Given the description of an element on the screen output the (x, y) to click on. 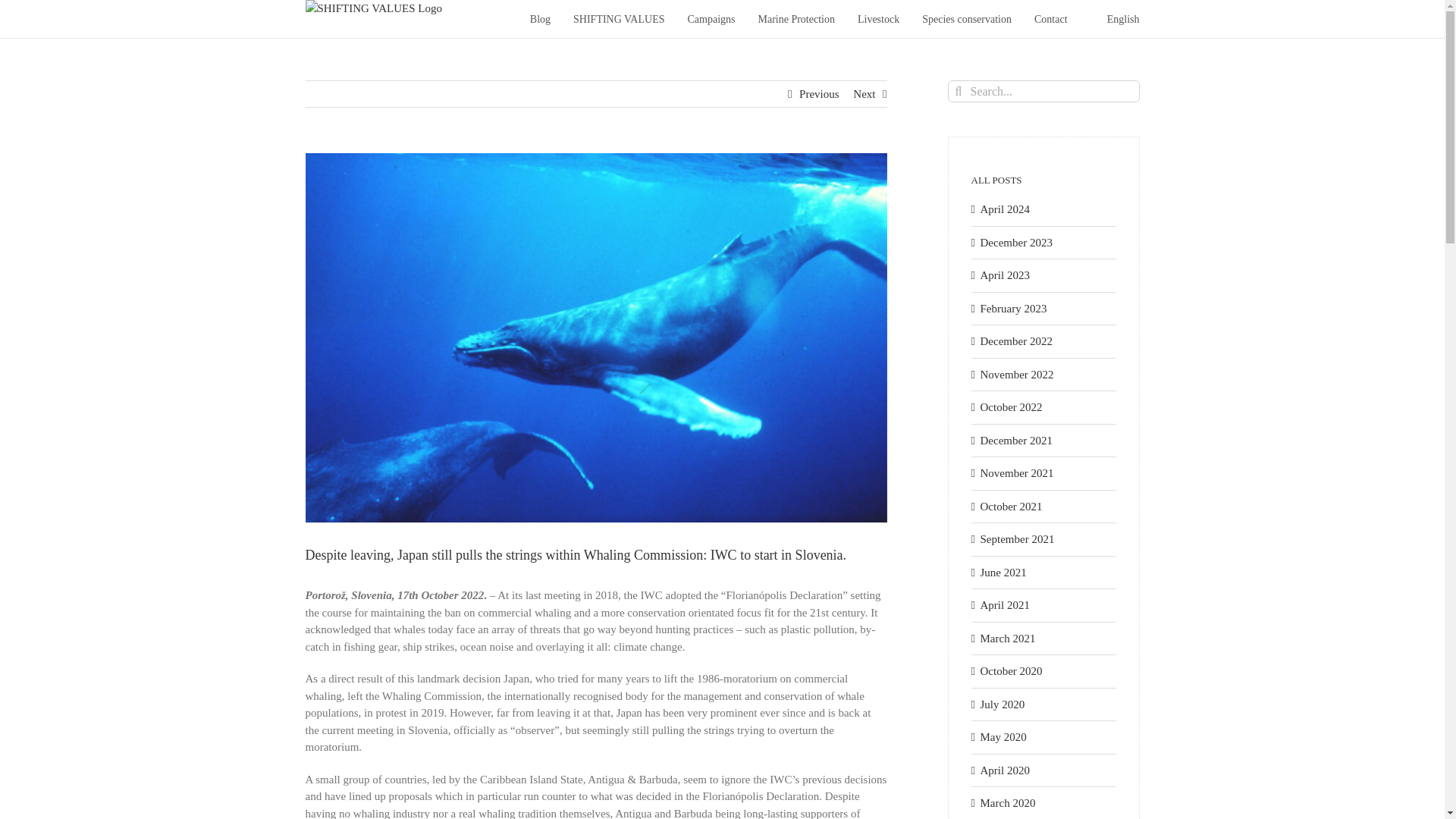
Campaigns (711, 18)
Species conservation (966, 18)
English (1115, 18)
Marine Protection (795, 18)
Livestock (878, 18)
English (1115, 18)
SHIFTING VALUES (618, 18)
